Given the description of an element on the screen output the (x, y) to click on. 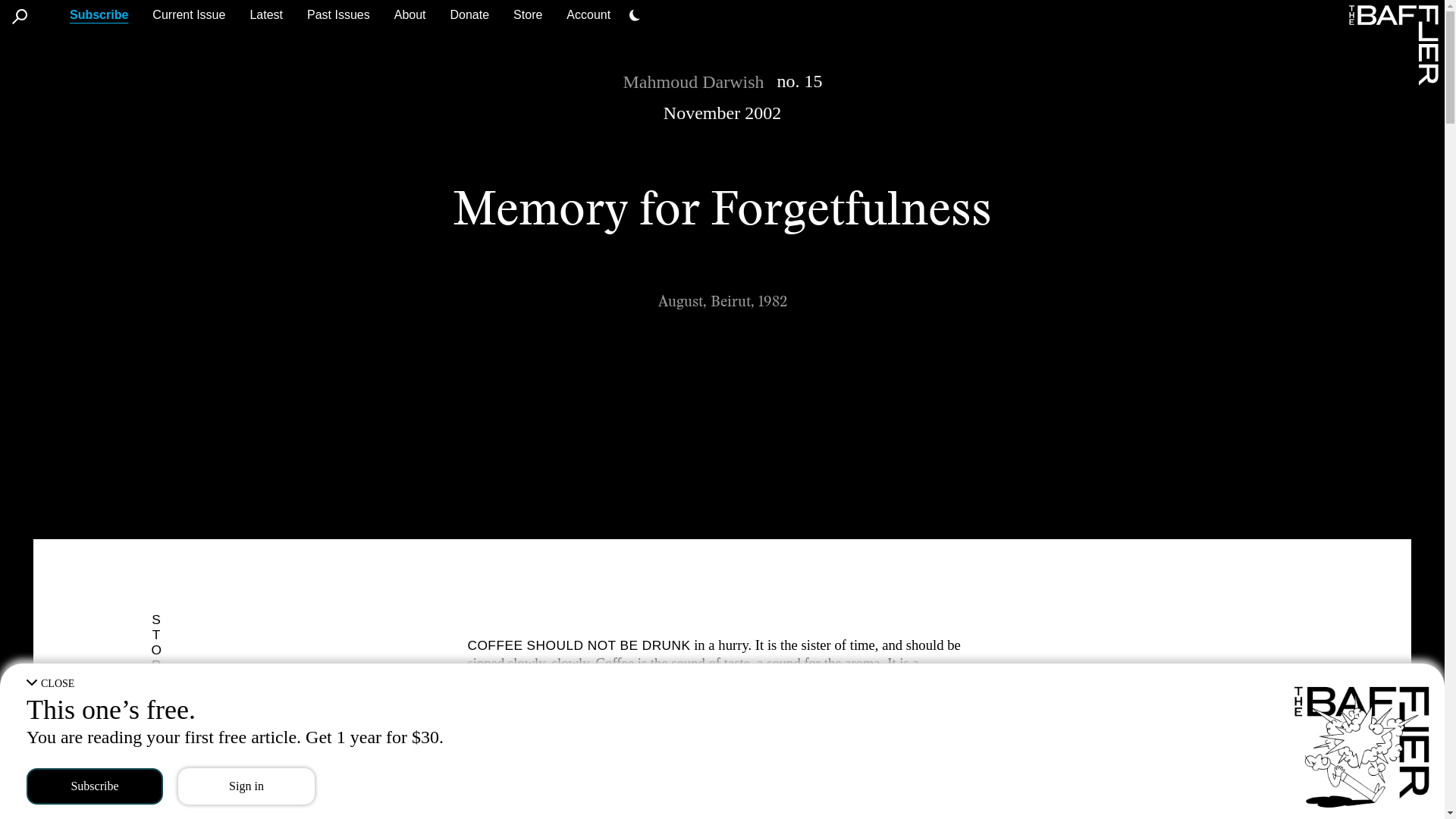
Dark Mode Settings (634, 15)
Latest (265, 14)
Store (527, 14)
Current Issue (188, 14)
Account (588, 14)
November 2002 (721, 112)
Search (19, 16)
Donate (469, 14)
About (410, 14)
Mahmoud Darwish (693, 81)
no. 15 (799, 80)
Past Issues (338, 14)
Subscribe (98, 14)
